Given the description of an element on the screen output the (x, y) to click on. 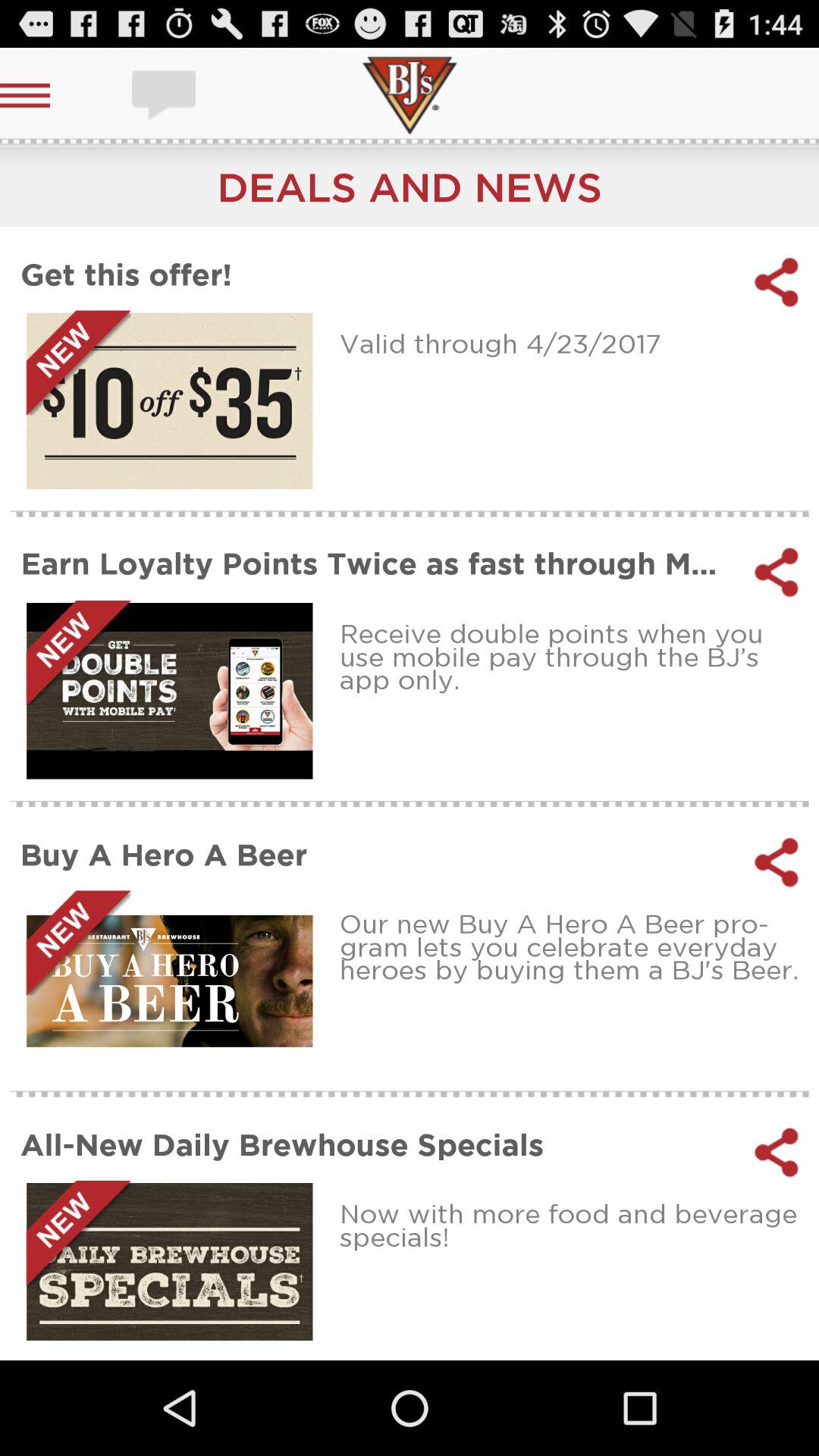
turn on the app above the get this offer! app (409, 186)
